Given the description of an element on the screen output the (x, y) to click on. 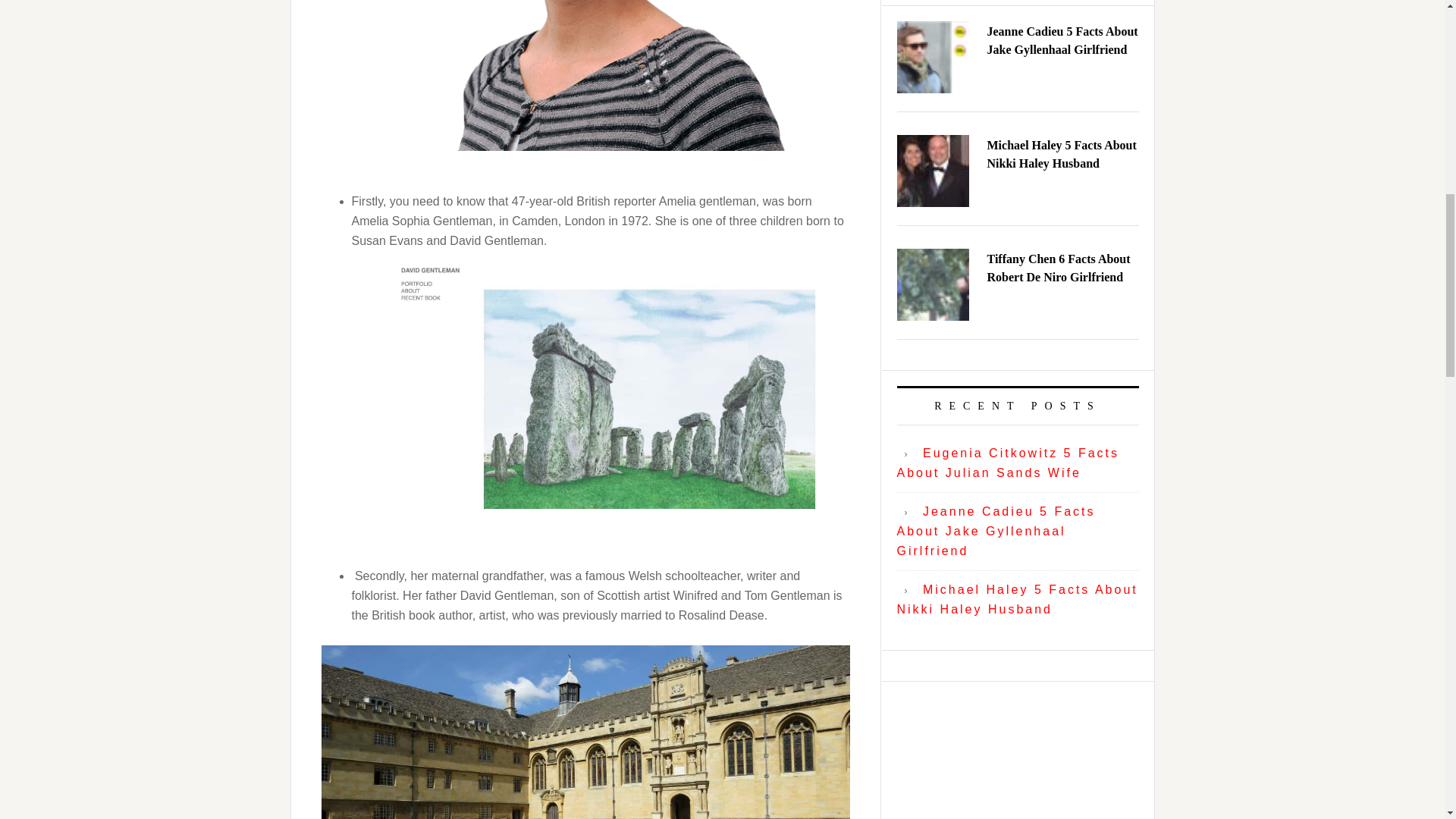
Michael Haley 5 Facts About Nikki Haley Husband (1062, 153)
Jeanne Cadieu 5 Facts About Jake Gyllenhaal Girlfriend (1062, 40)
Jeanne Cadieu 5 Facts About Jake Gyllenhaal Girlfriend (995, 531)
Tiffany Chen 6 Facts About Robert De Niro Girlfriend (1059, 267)
Eugenia Citkowitz 5 Facts About Julian Sands Wife (1007, 462)
Michael Haley 5 Facts About Nikki Haley Husband (1016, 599)
